Given the description of an element on the screen output the (x, y) to click on. 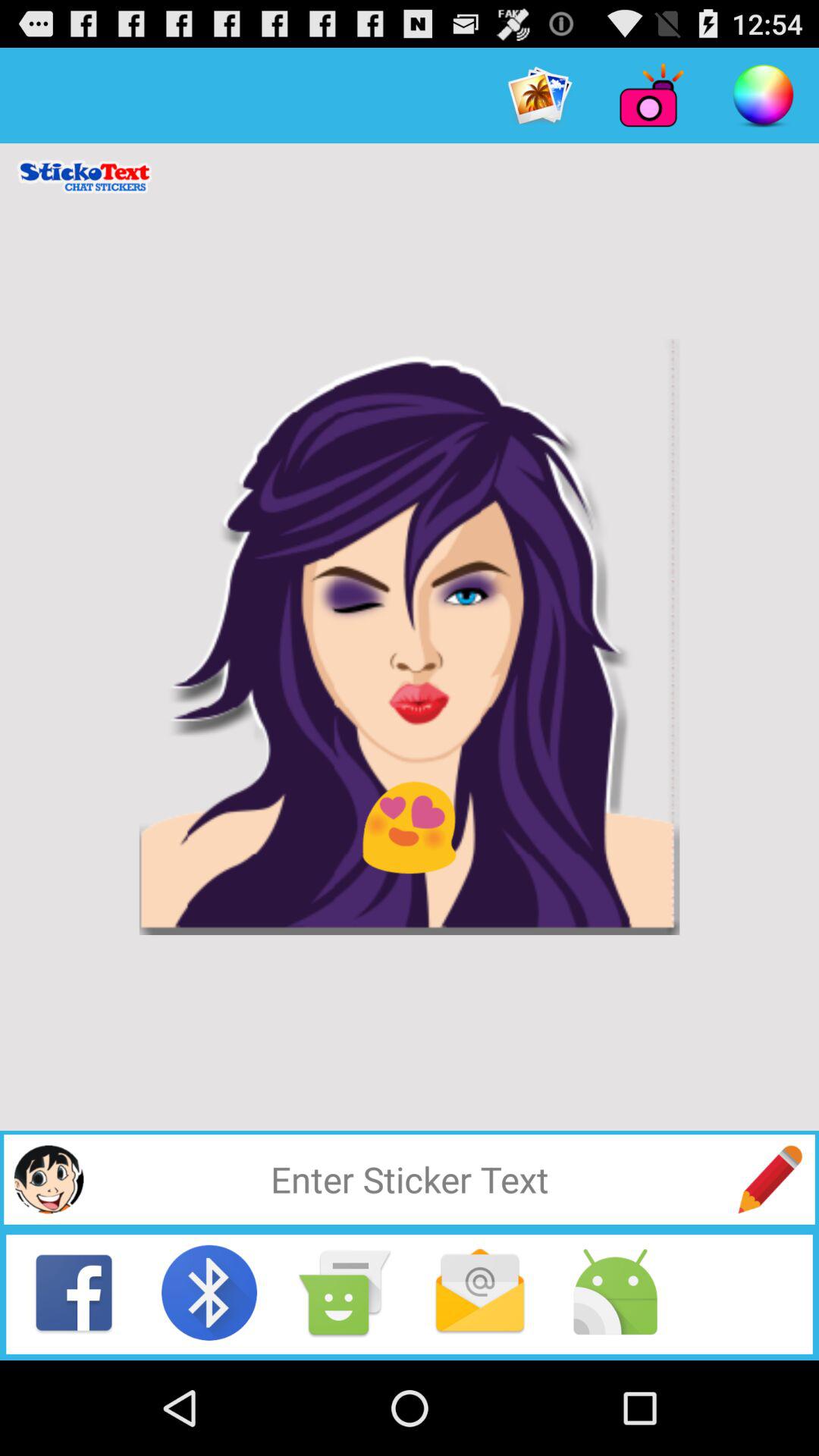
this icon indicates the harmful files to avoid crashing (615, 1292)
